Given the description of an element on the screen output the (x, y) to click on. 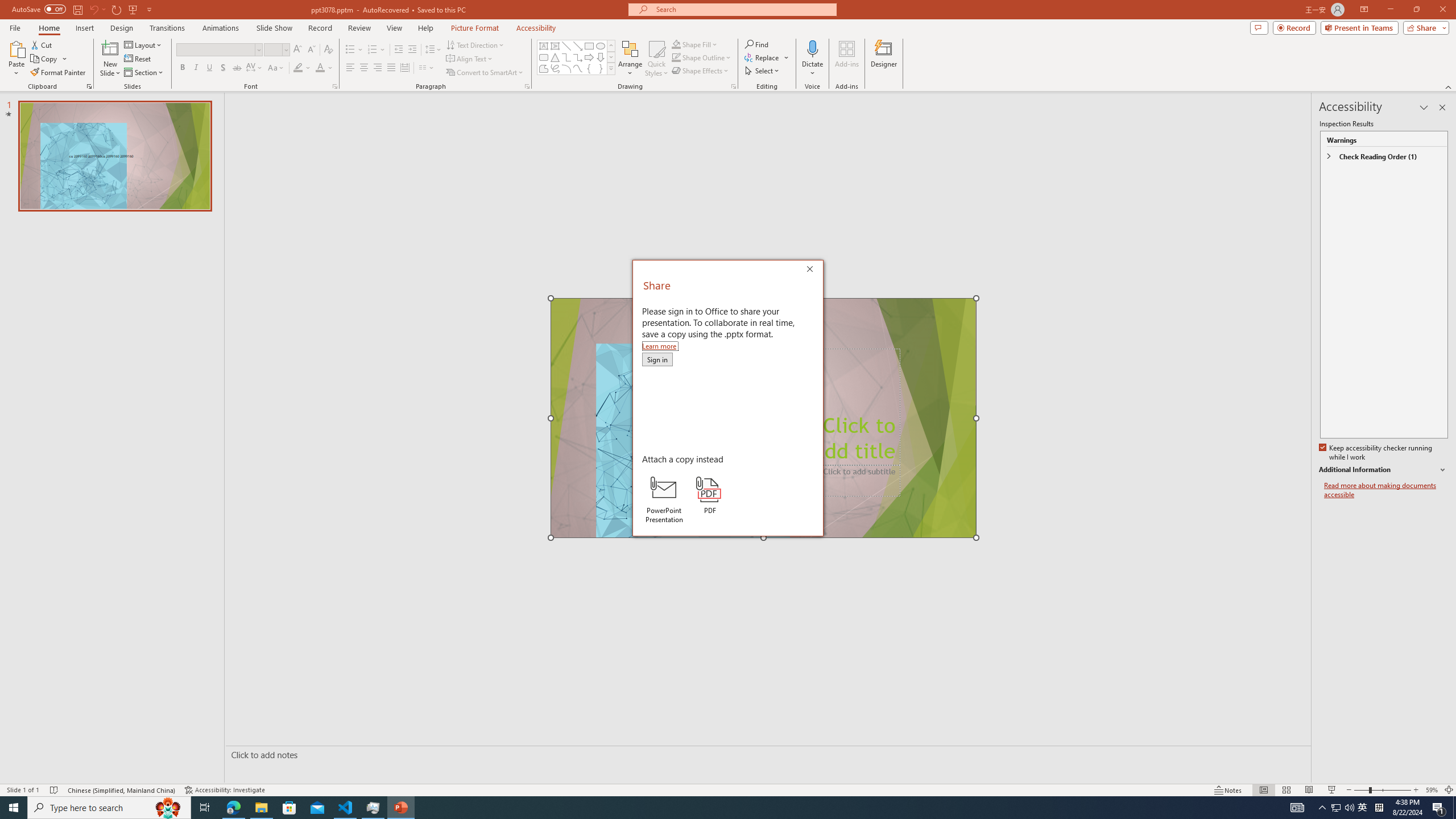
Reset (138, 58)
Shadow (223, 67)
Line (566, 45)
Show desktop (1454, 807)
Curve (577, 68)
Office Clipboard... (88, 85)
Rectangle: Rounded Corners (543, 57)
Distributed (404, 67)
Running applications (707, 807)
Left Brace (1362, 807)
